Given the description of an element on the screen output the (x, y) to click on. 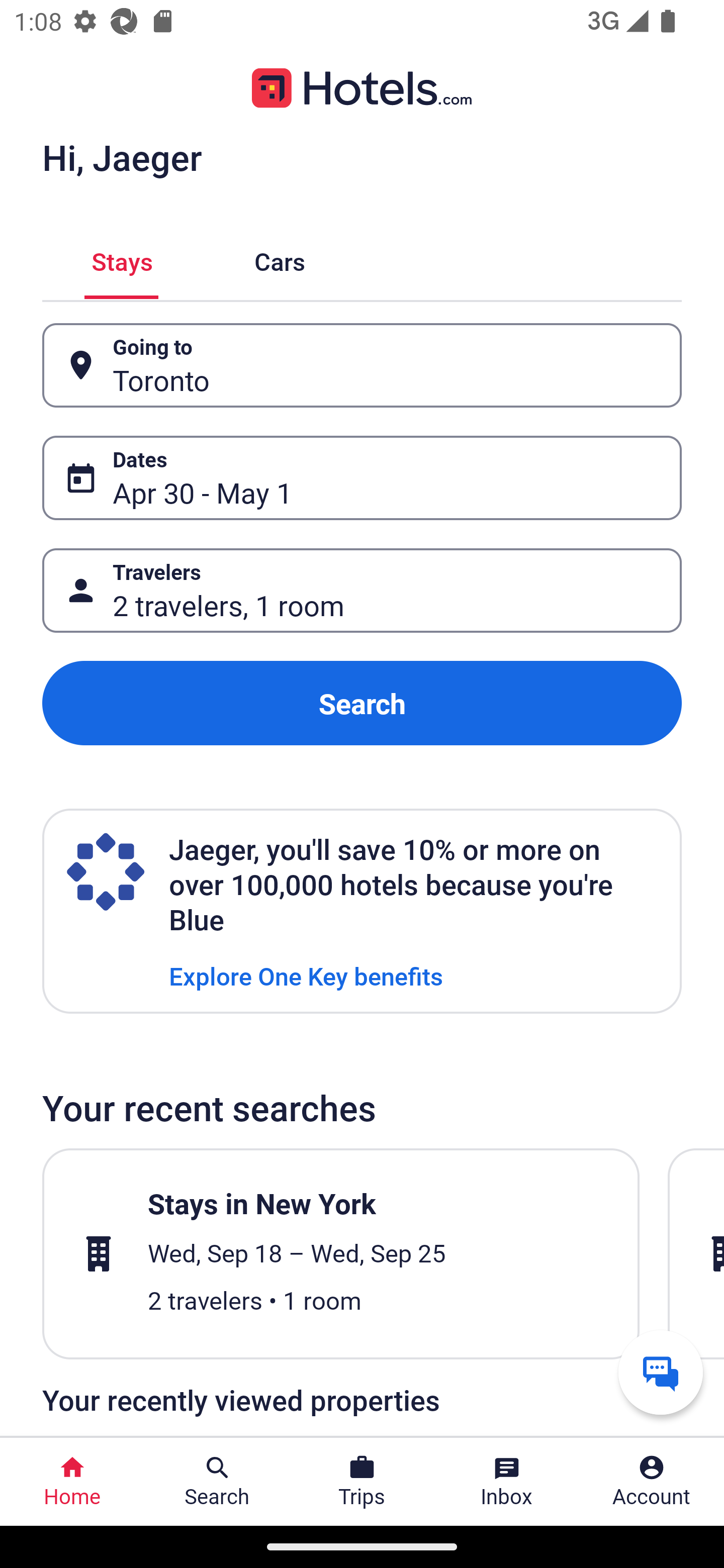
Hi, Jaeger (121, 156)
Cars (279, 259)
Going to Button Toronto (361, 365)
Dates Button Apr 30 - May 1 (361, 477)
Travelers Button 2 travelers, 1 room (361, 590)
Search (361, 702)
Get help from a virtual agent (660, 1371)
Search Search Button (216, 1481)
Trips Trips Button (361, 1481)
Inbox Inbox Button (506, 1481)
Account Profile. Button (651, 1481)
